Given the description of an element on the screen output the (x, y) to click on. 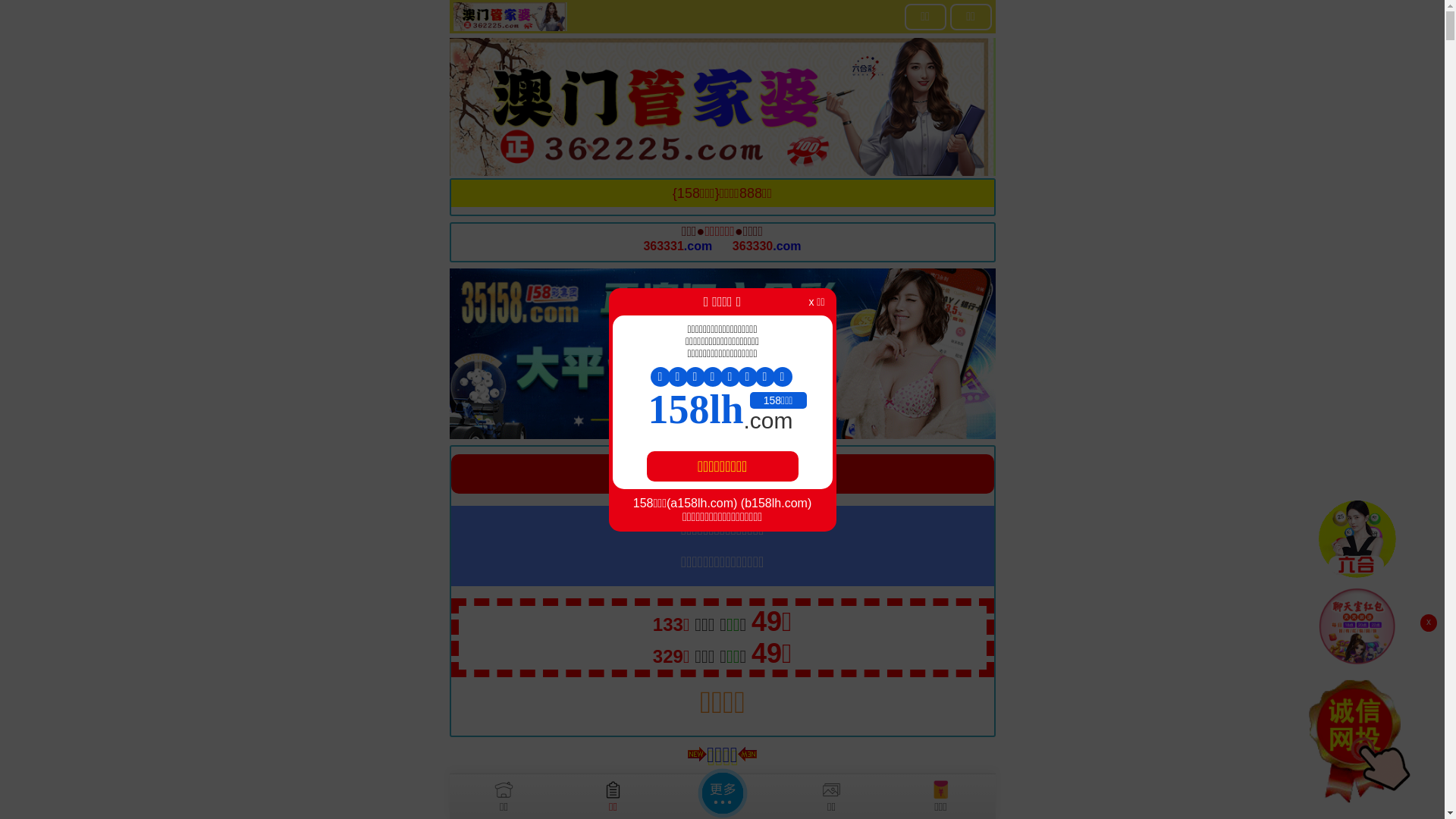
x Element type: text (1428, 622)
